Given the description of an element on the screen output the (x, y) to click on. 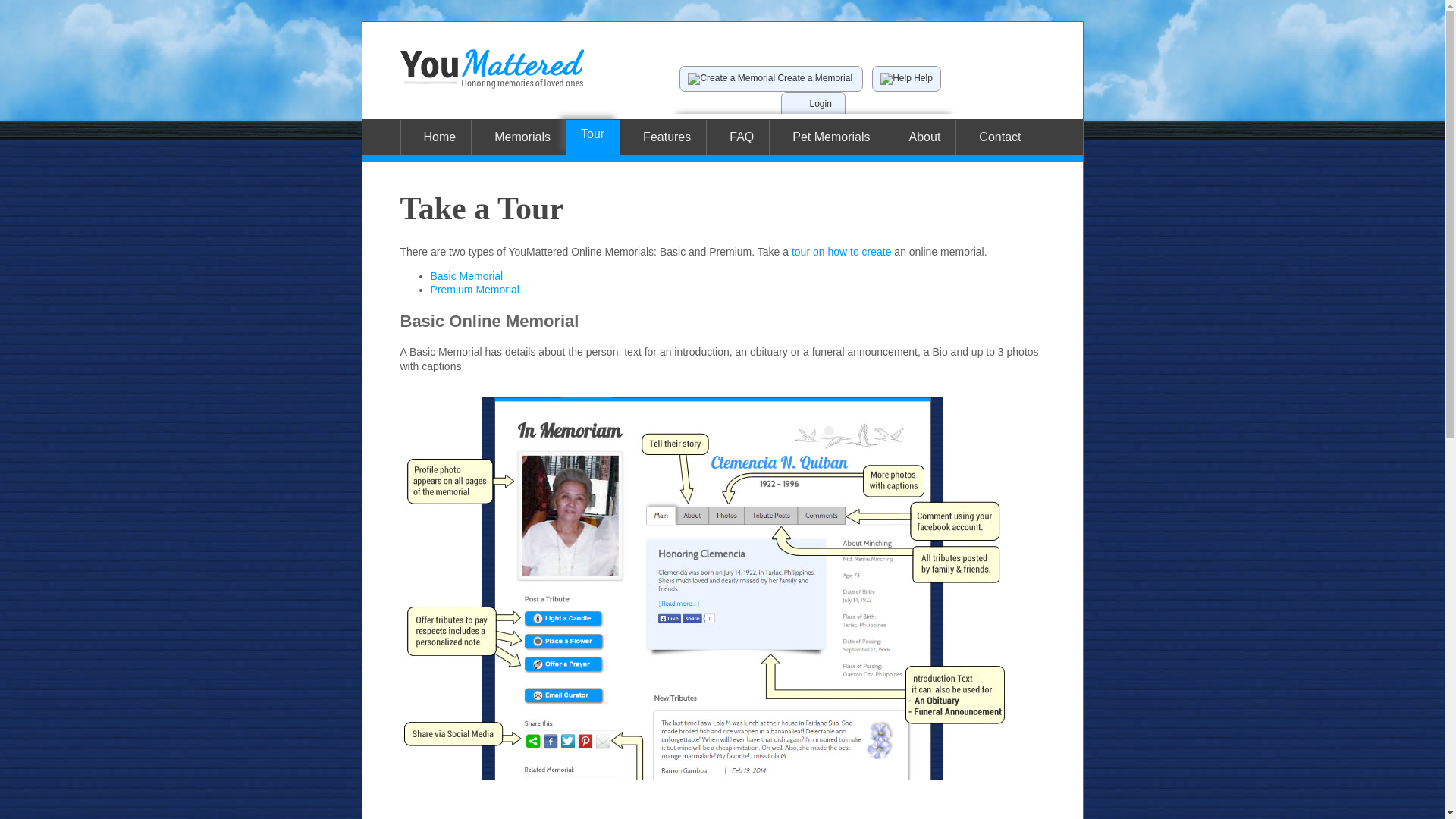
 Help (906, 78)
tour on how to create (841, 251)
   Login   (812, 104)
 Help (906, 78)
Basic Memorial (466, 275)
 Create a Memorial  (771, 78)
Premium Memorial (474, 289)
 Create a Memorial  (771, 78)
   Login   (812, 103)
